Given the description of an element on the screen output the (x, y) to click on. 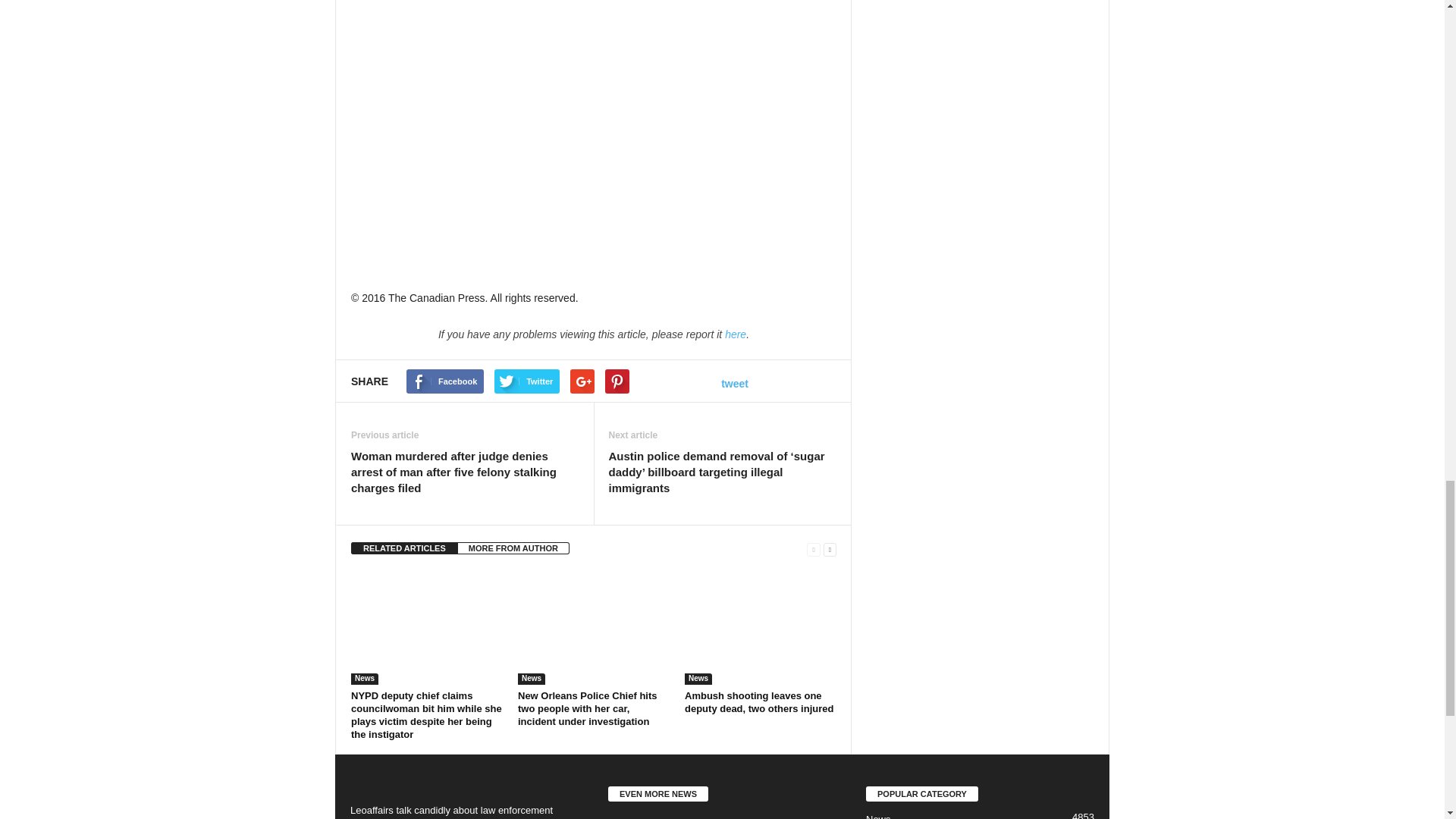
Ambush shooting leaves one deputy dead, two others injured (759, 627)
Ambush shooting leaves one deputy dead, two others injured (758, 702)
